Given the description of an element on the screen output the (x, y) to click on. 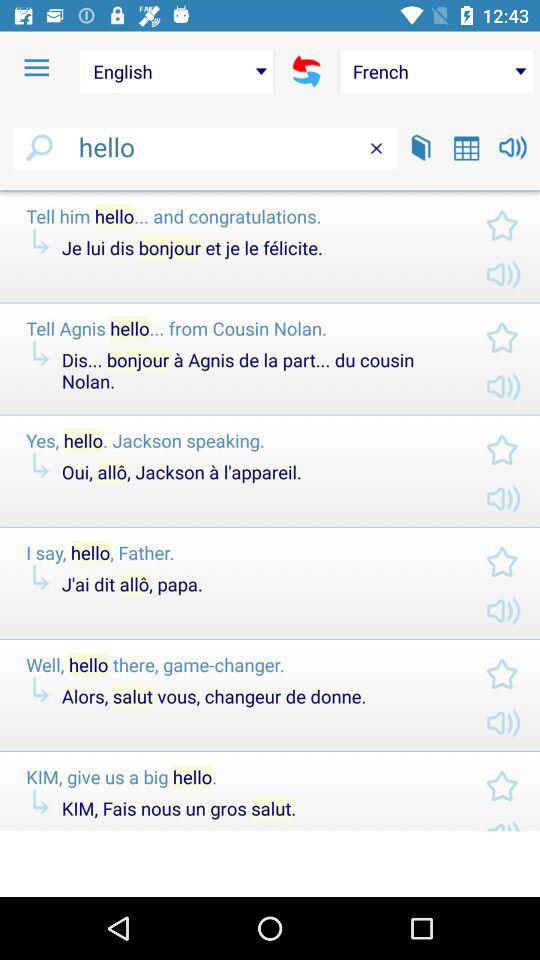
delete search item (376, 148)
